Given the description of an element on the screen output the (x, y) to click on. 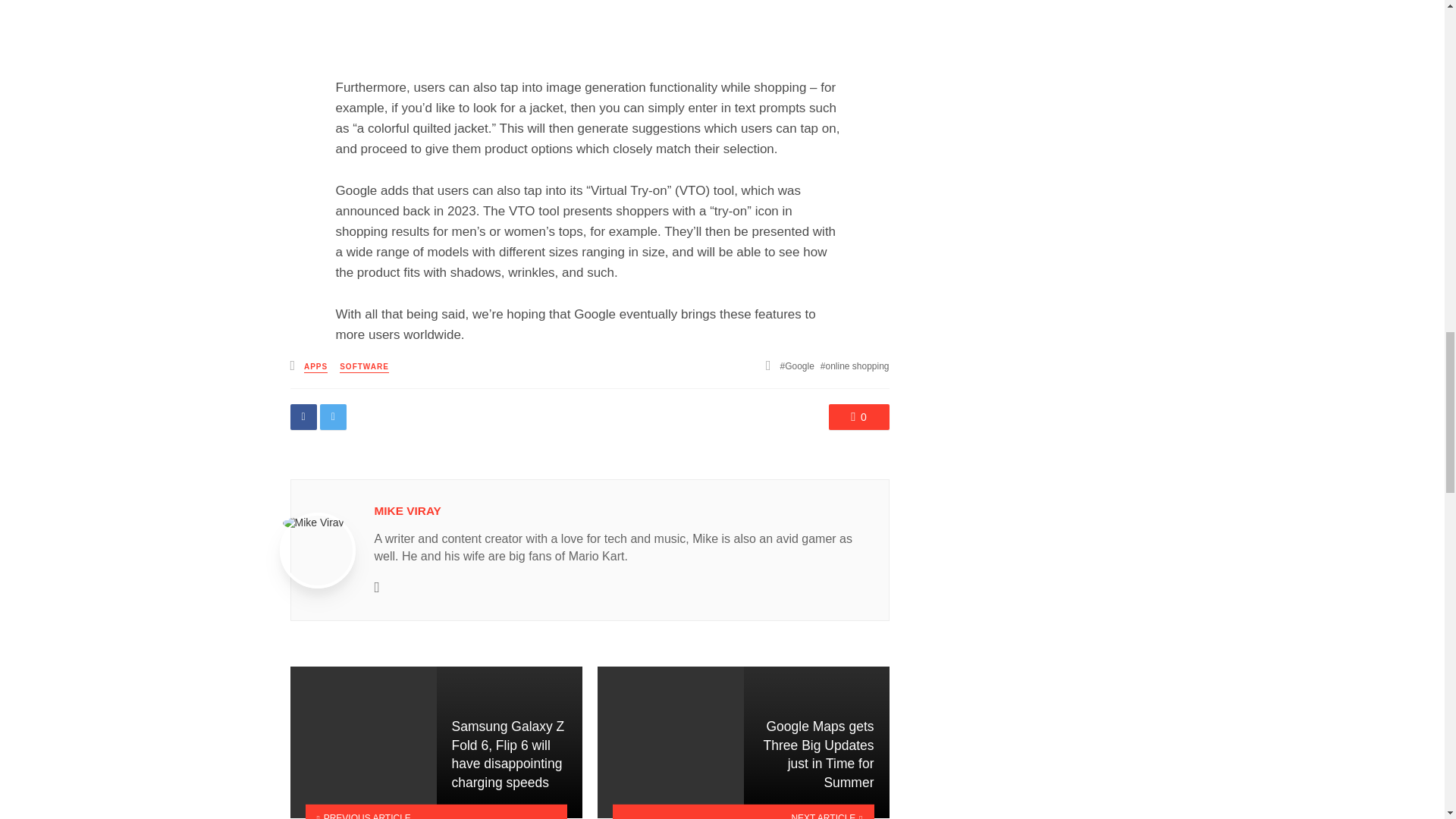
APPS (315, 367)
0 (858, 416)
0 Comments (858, 416)
PREVIOUS ARTICLE (434, 811)
Google (796, 366)
Posts by Mike Viray (407, 510)
online shopping (855, 366)
Share on Facebook (302, 416)
Share on Twitter (333, 416)
SOFTWARE (363, 367)
